Given the description of an element on the screen output the (x, y) to click on. 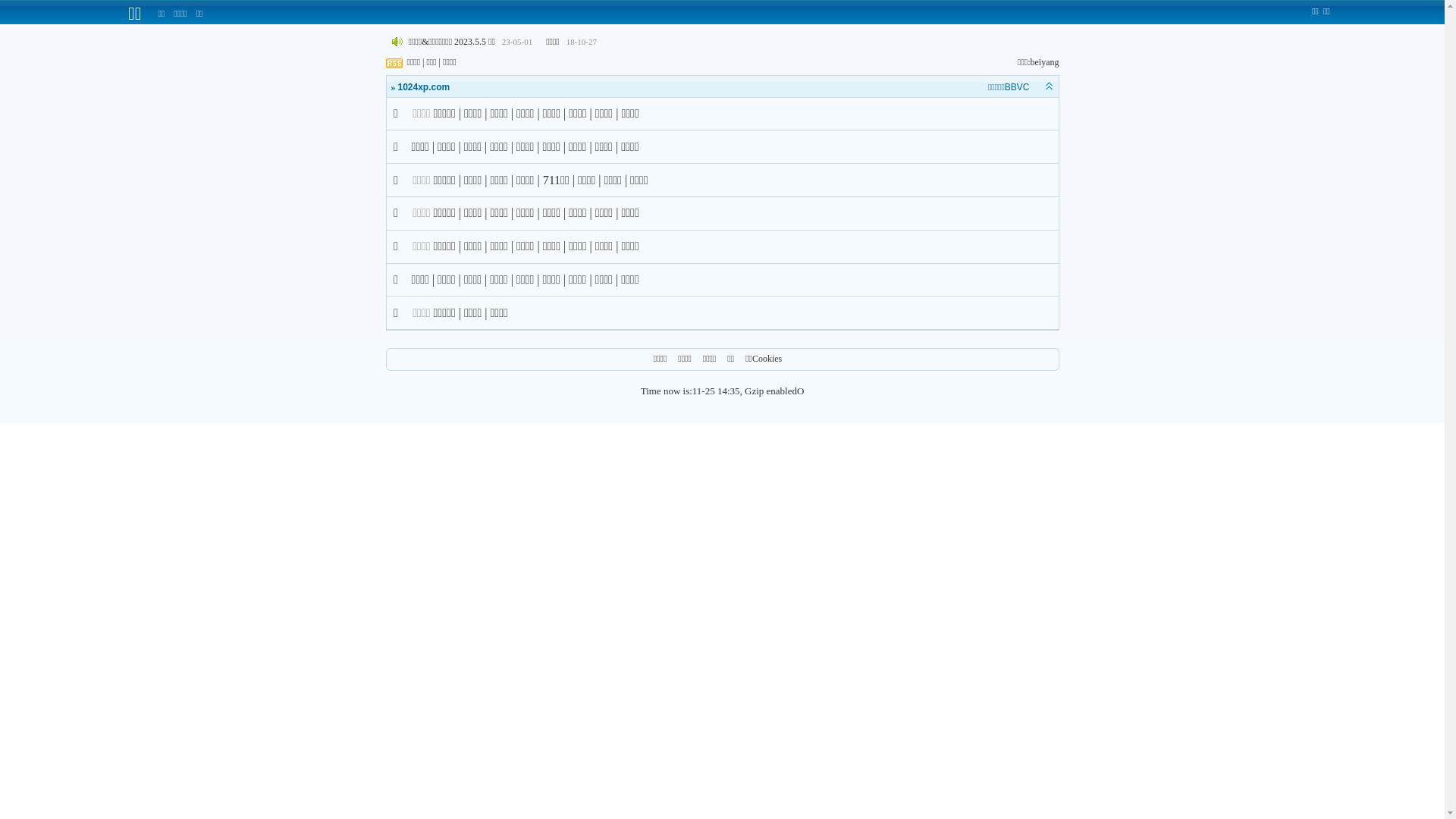
beiyang Element type: text (1043, 61)
1024xp.com Element type: text (423, 86)
BBVC Element type: text (1016, 86)
